Given the description of an element on the screen output the (x, y) to click on. 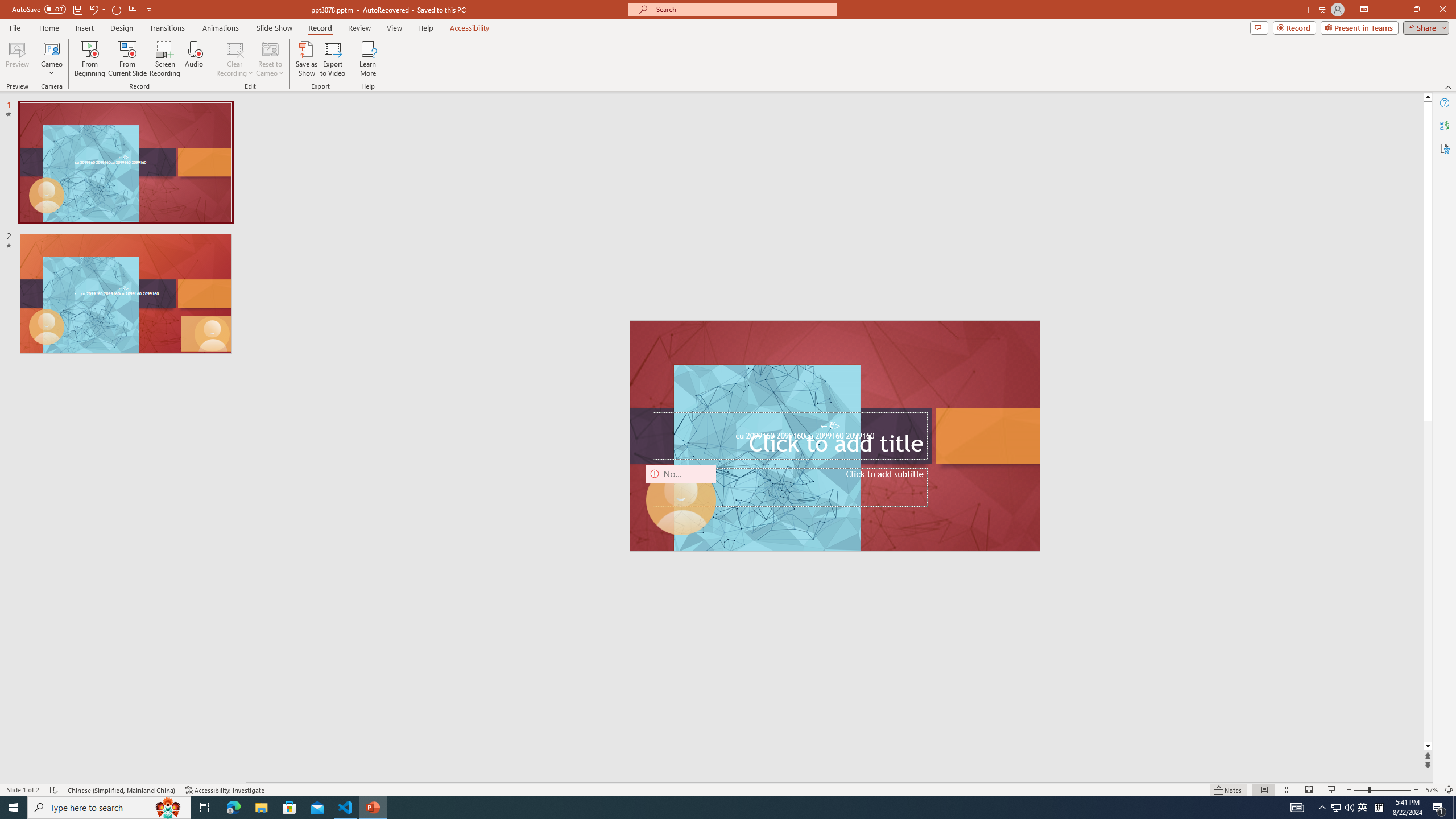
An abstract genetic concept (834, 436)
Clear Recording (234, 58)
